Given the description of an element on the screen output the (x, y) to click on. 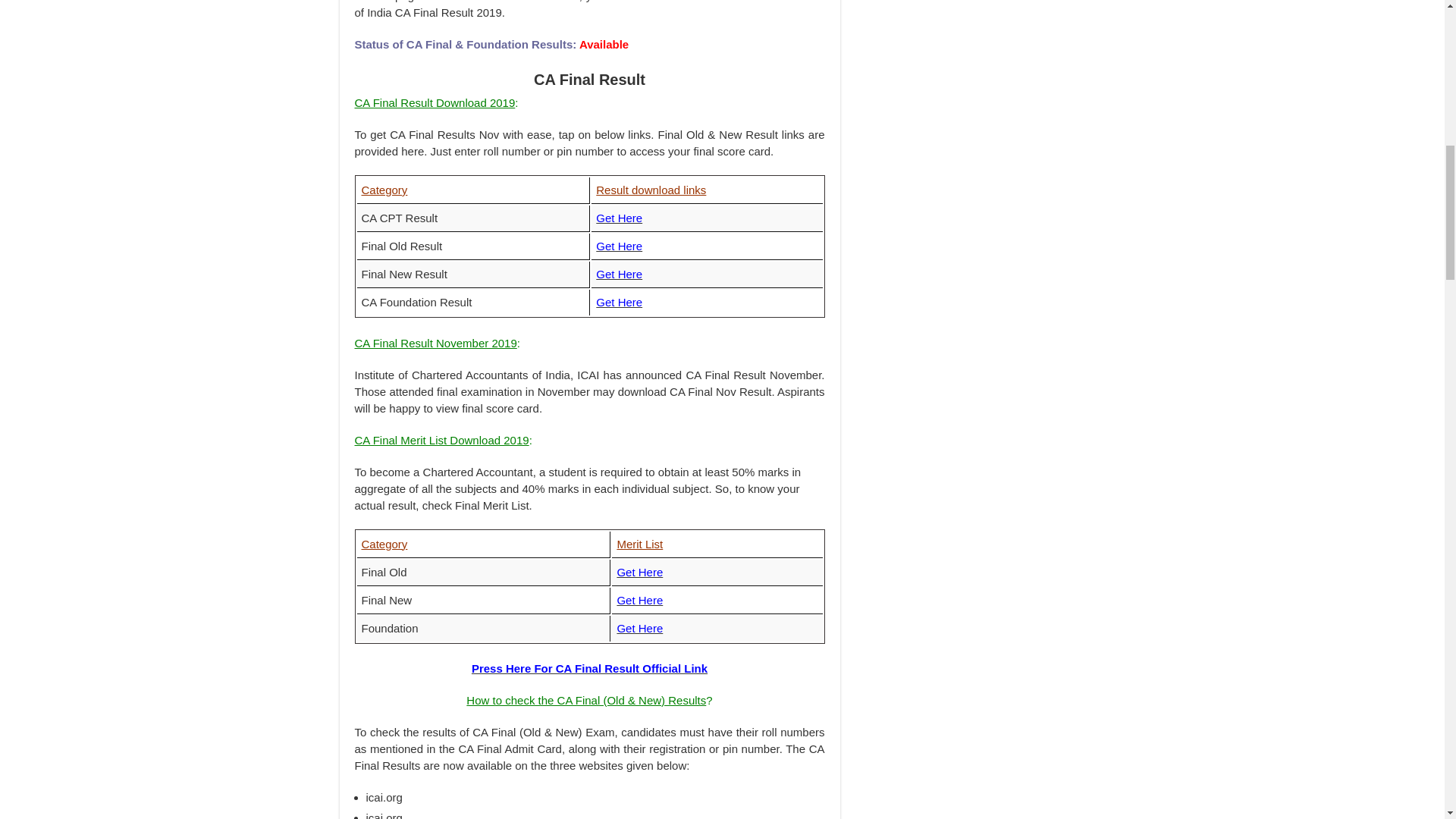
Get Here (618, 301)
Get Here (618, 245)
Get Here (638, 571)
Get Here (638, 599)
Get Here (618, 217)
Press Here For CA Final Result Official Link (589, 667)
Scroll To Top (1421, 60)
Get Here (638, 627)
Get Here (618, 273)
